Given the description of an element on the screen output the (x, y) to click on. 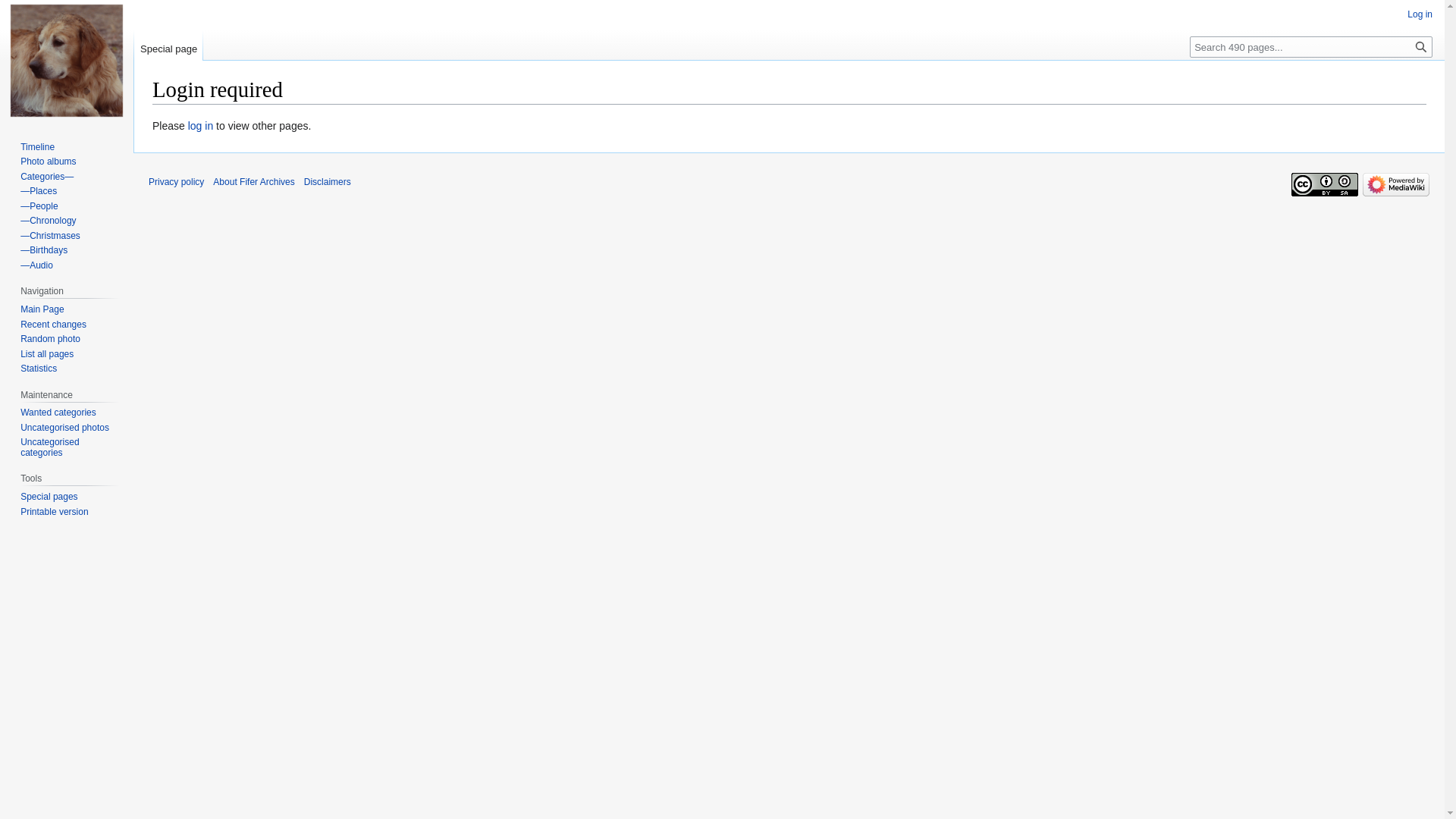
Random photo Element type: text (50, 338)
About Fifer Archives Element type: text (253, 181)
Search Fifer Archives [alt-shift-f] Element type: hover (1310, 46)
Photo albums Element type: text (47, 161)
Uncategorised categories Element type: text (49, 447)
List all pages Element type: text (46, 353)
Timeline Element type: text (37, 146)
log in Element type: text (200, 125)
Uncategorised photos Element type: text (64, 427)
Privacy policy Element type: text (175, 181)
Visit the main page Element type: hover (66, 60)
Special pages Element type: text (48, 496)
Wanted categories Element type: text (58, 412)
Disclaimers Element type: text (327, 181)
Recent changes Element type: text (53, 324)
Log in Element type: text (1419, 14)
Statistics Element type: text (38, 368)
Search Element type: text (1420, 46)
Printable version Element type: text (53, 511)
Search pages for this text Element type: hover (1420, 46)
Special page Element type: text (168, 45)
Jump to navigation Element type: text (151, 116)
Main Page Element type: text (41, 309)
